Given the description of an element on the screen output the (x, y) to click on. 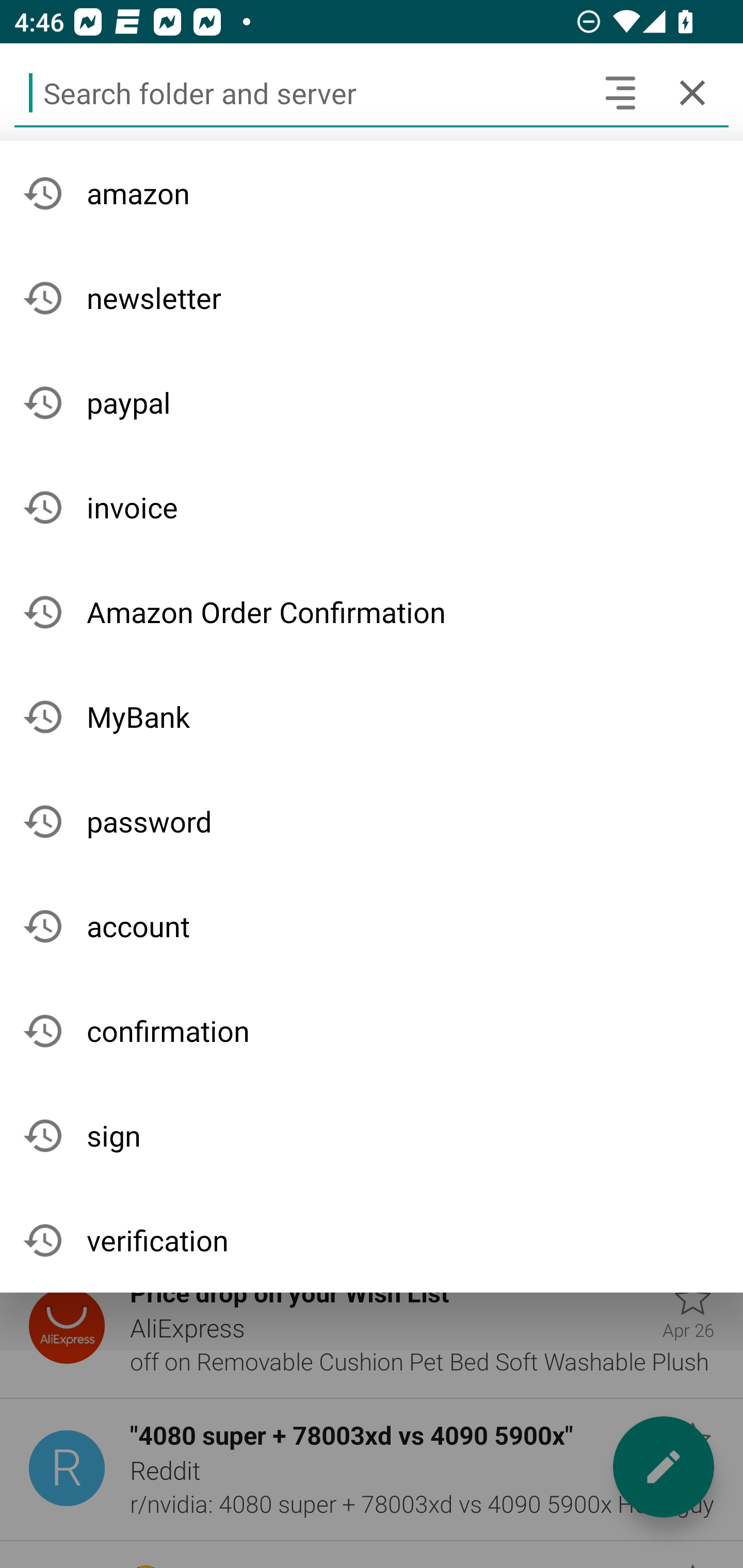
   Search folder and server (298, 92)
Search headers and text (619, 92)
Cancel (692, 92)
